Given the description of an element on the screen output the (x, y) to click on. 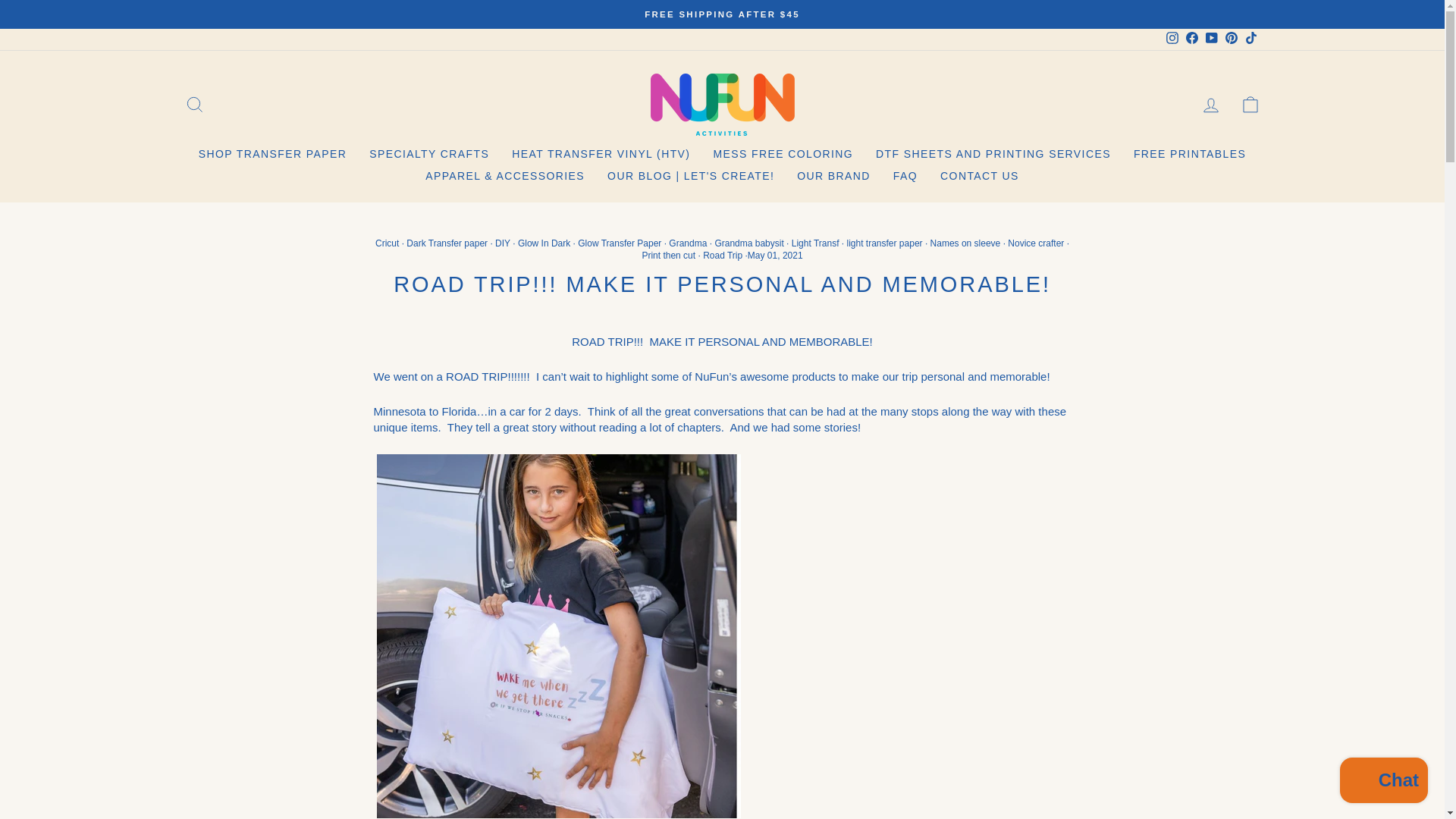
NuFun Activities on Pinterest (1230, 38)
NuFun Activities on Instagram (1170, 38)
NuFun Activities on Facebook (1190, 38)
NuFun Activities on TikTok (1250, 38)
NuFun Activities on YouTube (1211, 38)
